Given the description of an element on the screen output the (x, y) to click on. 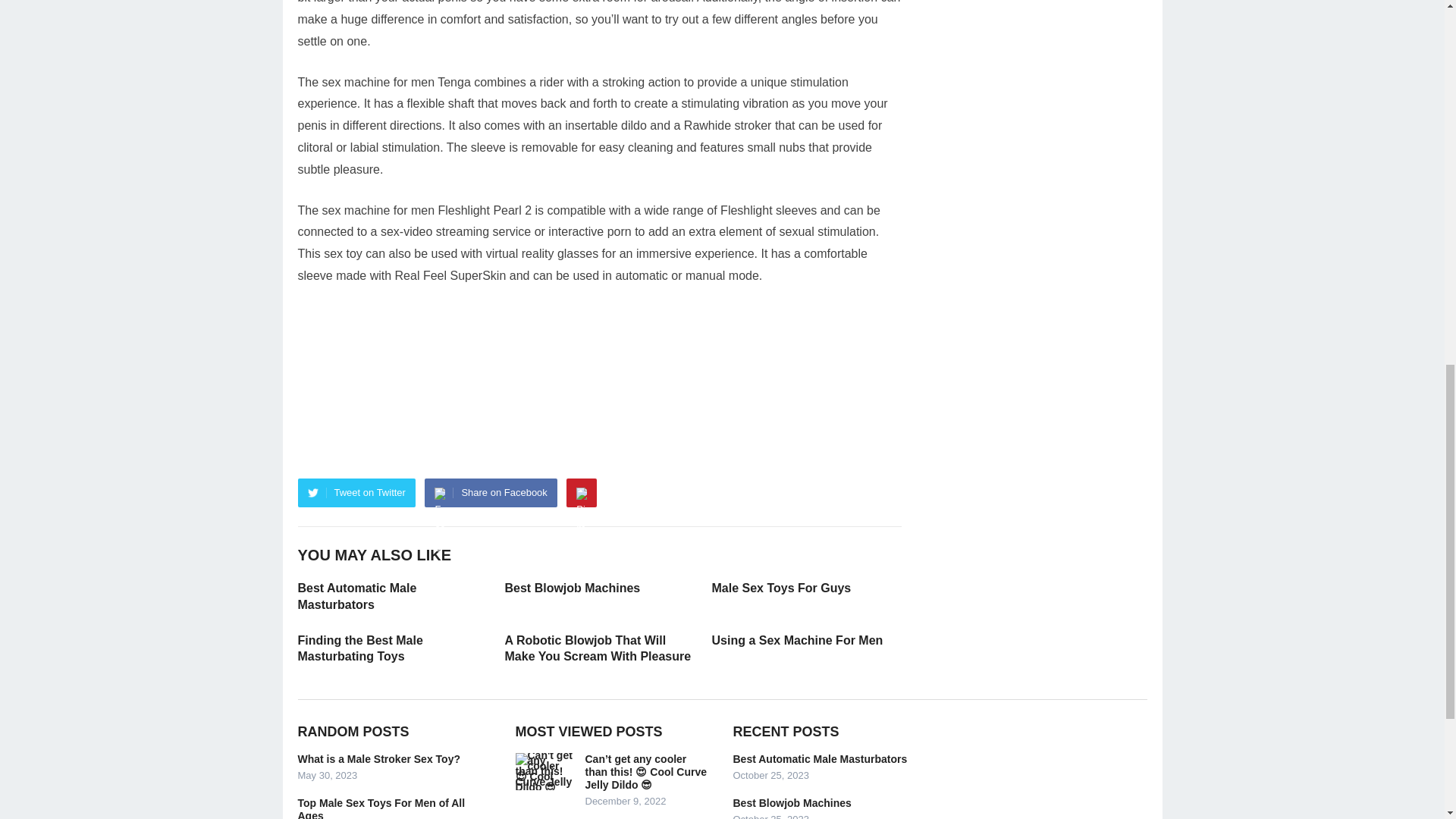
Best Blowjob Machines (572, 587)
Best Automatic Male Masturbators (356, 595)
Using a Sex Machine For Men (796, 640)
Share on Facebook (490, 492)
Tweet on Twitter (355, 492)
Finding the Best Male Masturbating Toys (359, 648)
A Robotic Blowjob That Will Make You Scream With Pleasure (598, 648)
Male Sex Toys For Guys (780, 587)
Pinterest (581, 492)
